Given the description of an element on the screen output the (x, y) to click on. 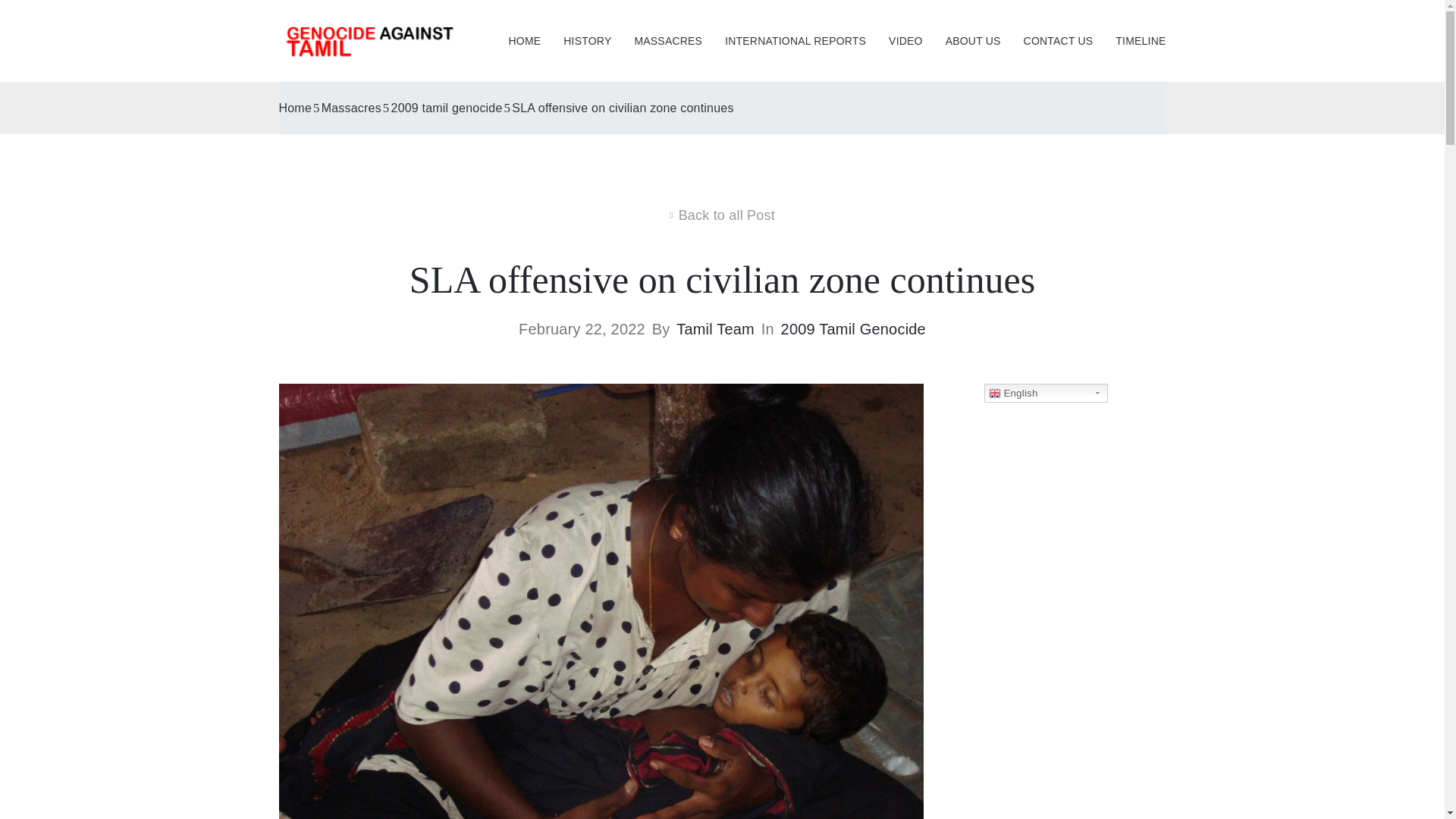
2009 tamil genocide (446, 108)
INTERNATIONAL REPORTS (795, 40)
VIDEO (905, 40)
HISTORY (587, 40)
CONTACT US (1058, 40)
Home (295, 107)
ABOUT US (972, 40)
Tamil Team (715, 329)
English (1046, 393)
Back to all Post (722, 215)
